Given the description of an element on the screen output the (x, y) to click on. 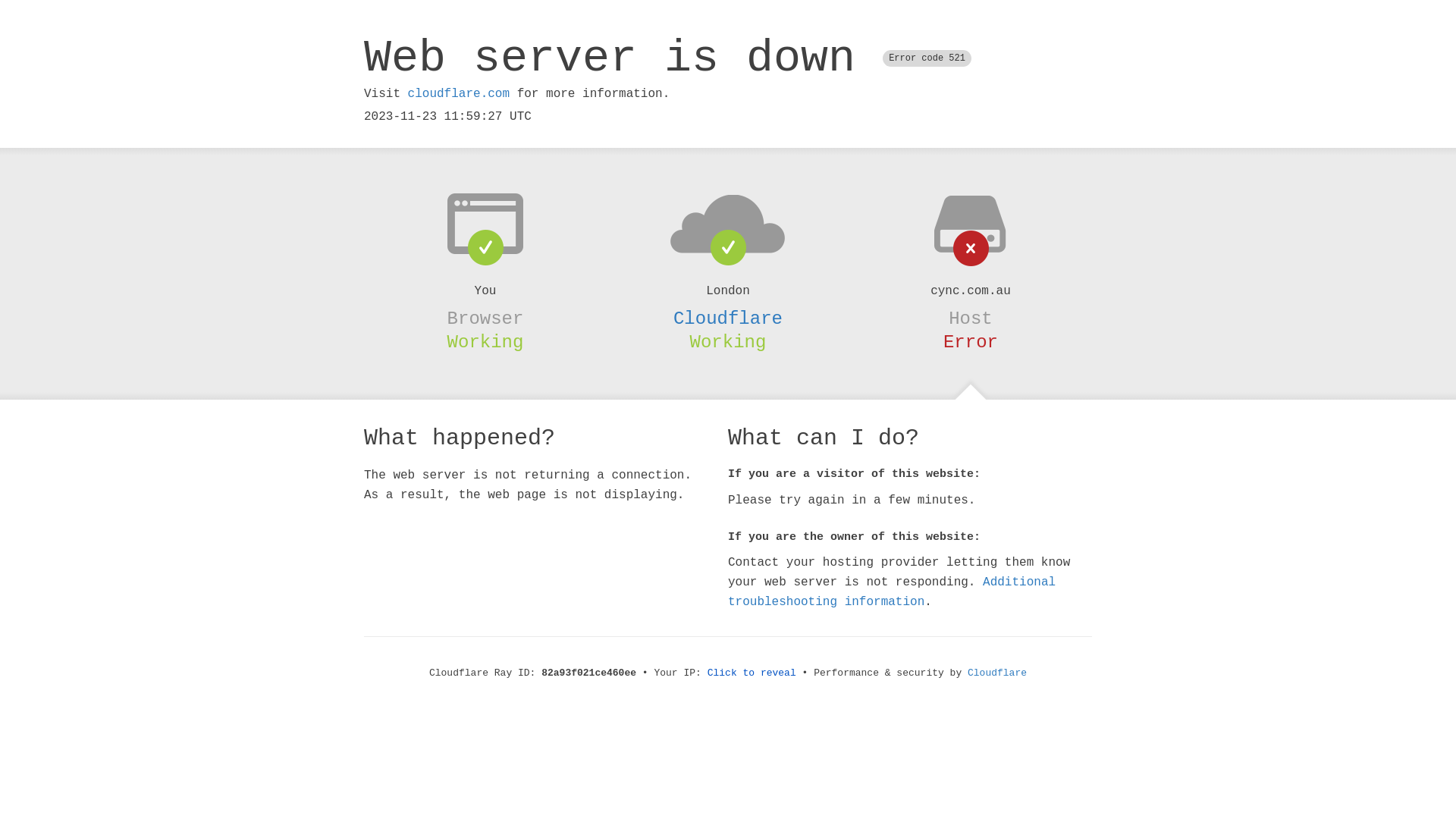
Click to reveal Element type: text (751, 672)
Additional troubleshooting information Element type: text (891, 591)
Cloudflare Element type: text (996, 672)
cloudflare.com Element type: text (458, 93)
Cloudflare Element type: text (727, 318)
